Given the description of an element on the screen output the (x, y) to click on. 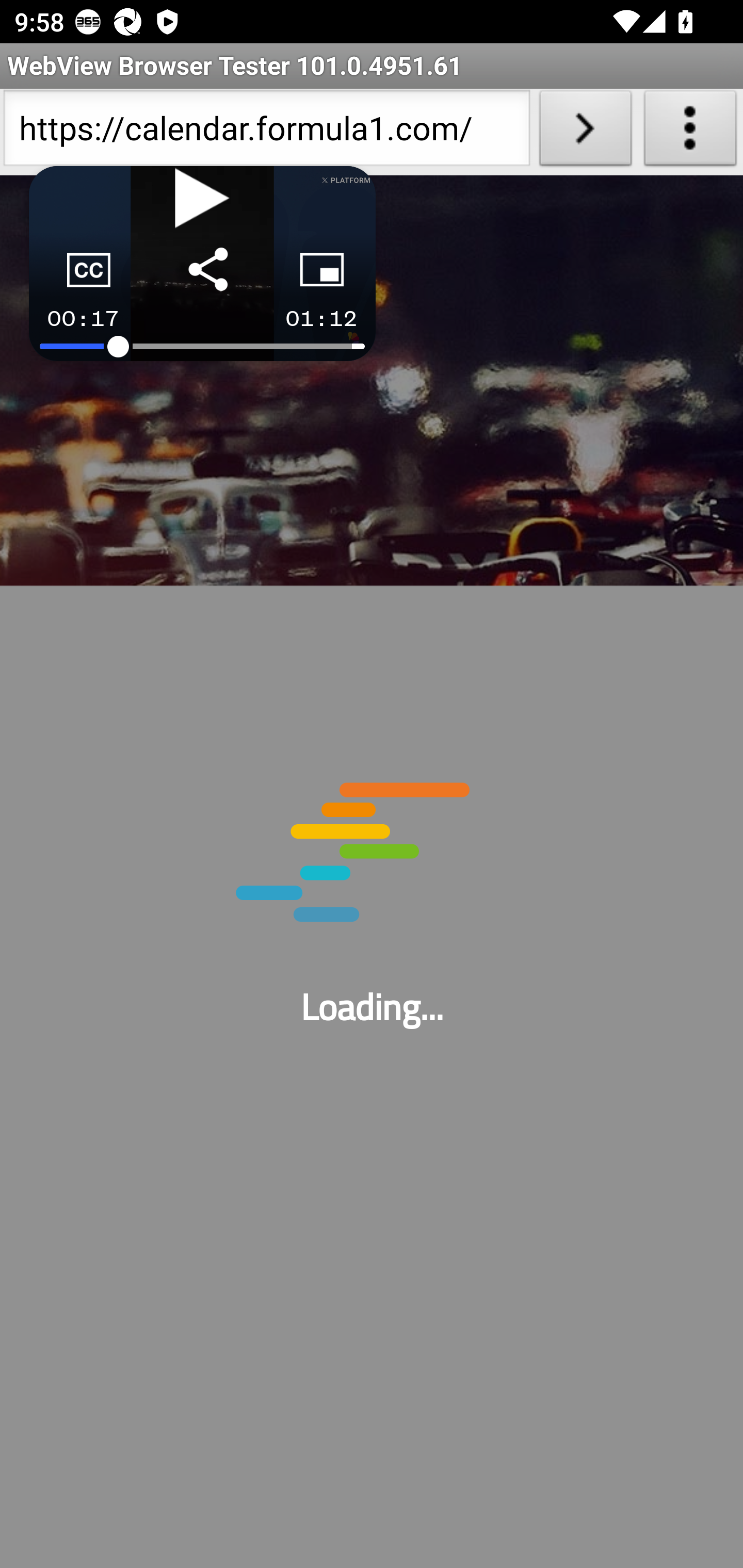
https://calendar.formula1.com/ (266, 132)
Load URL (585, 132)
About WebView (690, 132)
